Given the description of an element on the screen output the (x, y) to click on. 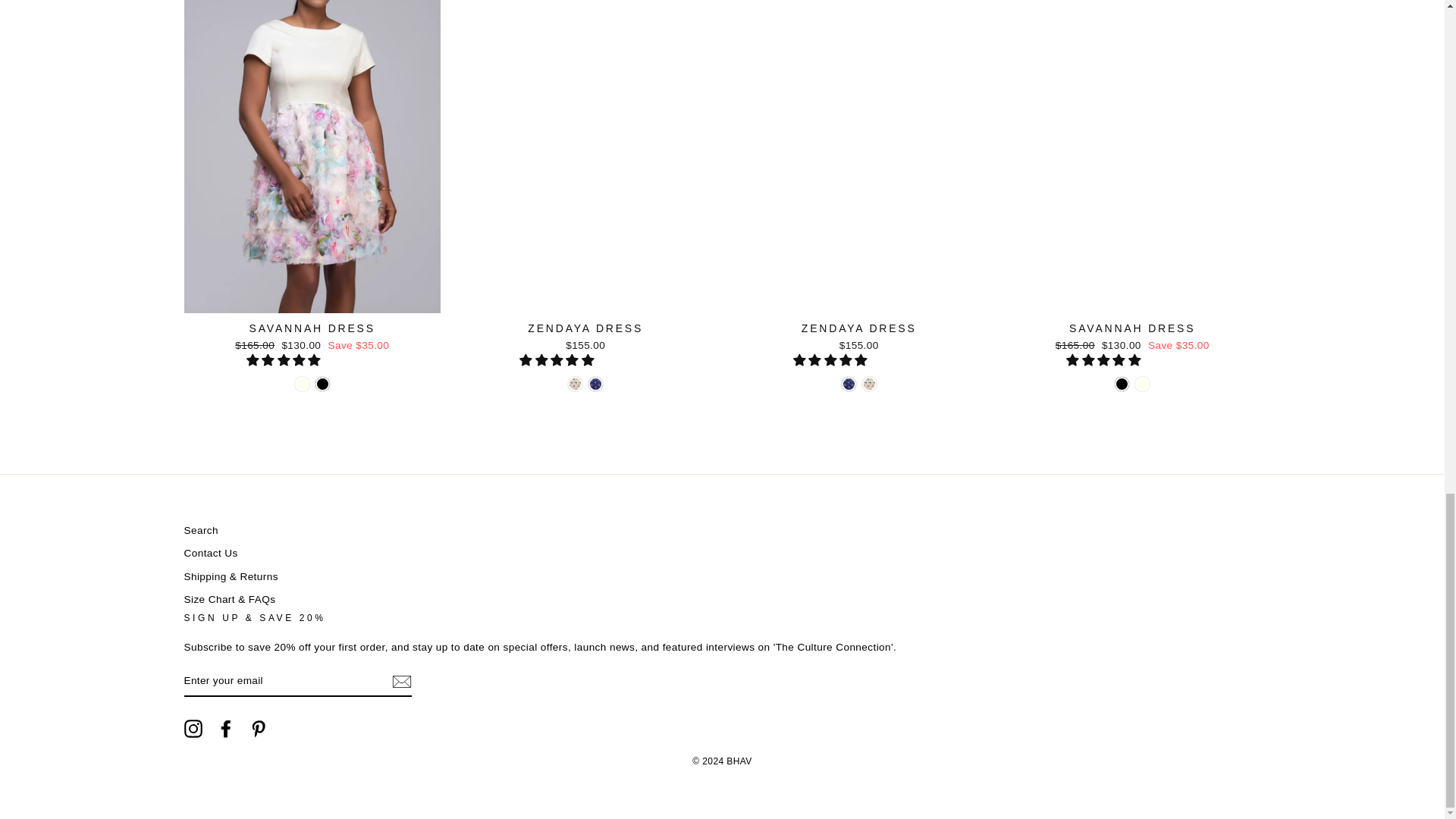
BHAV on Pinterest (257, 728)
BHAV on Instagram (192, 728)
BHAV on Facebook (225, 728)
